Given the description of an element on the screen output the (x, y) to click on. 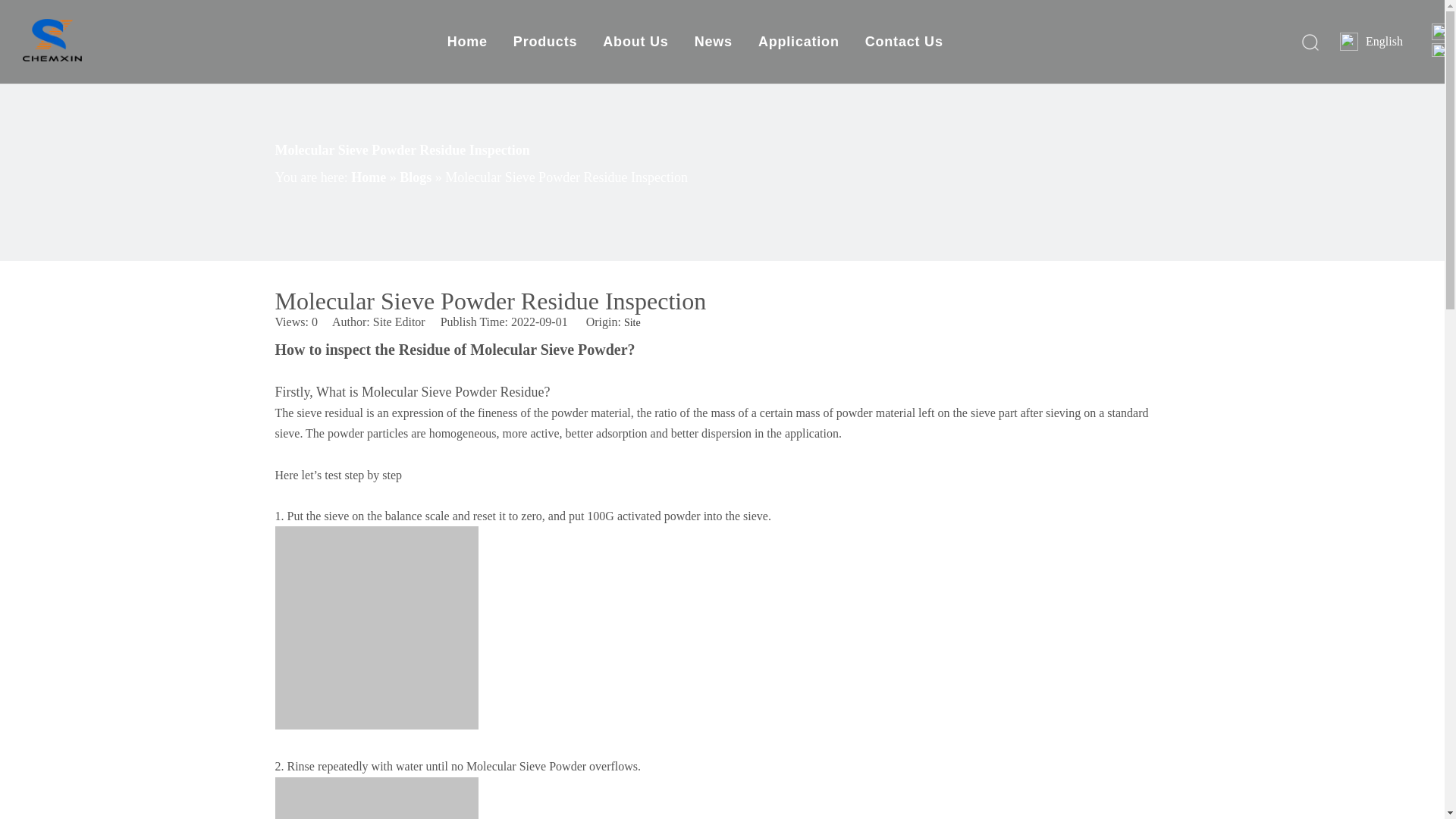
News (713, 41)
Contact Us (903, 41)
Products (544, 41)
About Us (635, 41)
Application (799, 41)
Home (369, 177)
Blogs (416, 177)
Home (466, 41)
Site (632, 322)
